Given the description of an element on the screen output the (x, y) to click on. 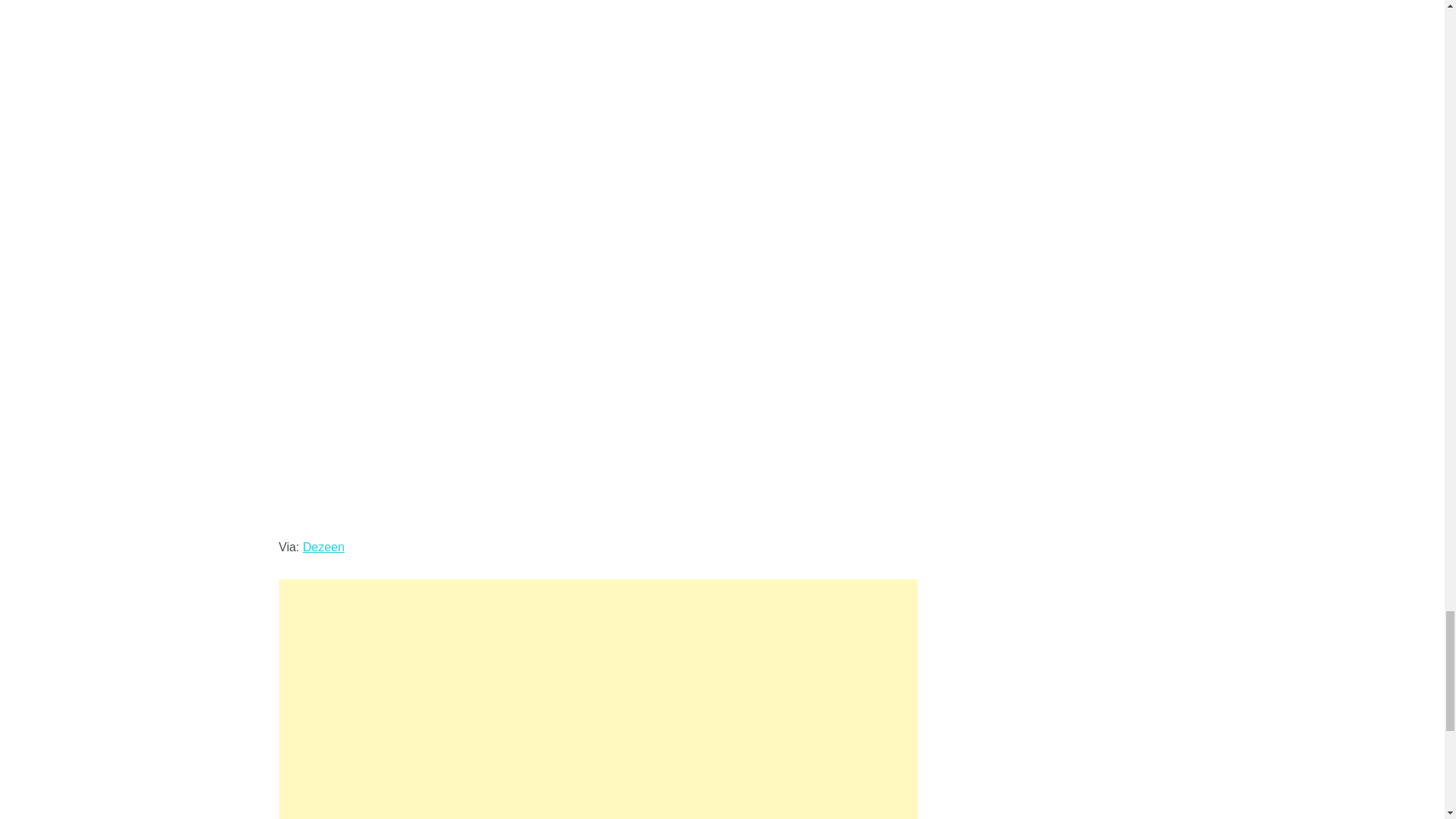
Dezeen (322, 546)
